Given the description of an element on the screen output the (x, y) to click on. 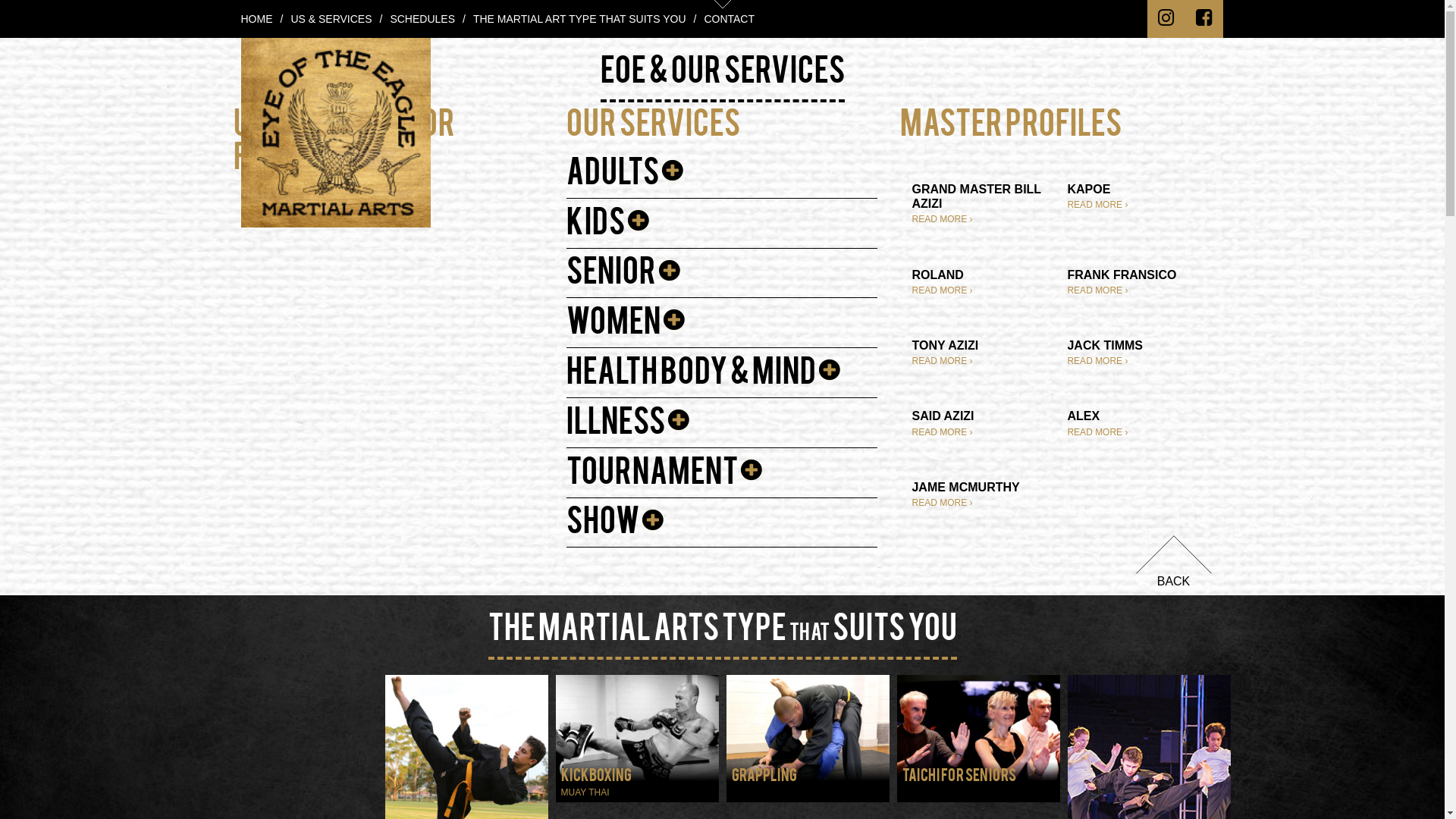
Women Element type: text (626, 328)
Senior Element type: text (624, 278)
Kids Element type: text (609, 228)
Show Element type: text (616, 527)
THE MARTIAL ART TYPE THAT SUITS YOU Element type: text (579, 18)
Tournament Element type: text (665, 478)
Health body & mind Element type: text (704, 378)
US & SERVICES Element type: text (330, 18)
Taichi for seniors
  Element type: text (977, 782)
Illness Element type: text (629, 428)
SCHEDULES Element type: text (422, 18)
Adults Element type: text (626, 178)
Grappling
  Element type: text (807, 782)
CONTACT Element type: text (729, 18)
US / IN & OUTDOOR FACILITIES Element type: text (344, 148)
Kickboxing
MUAY THAI Element type: text (636, 782)
HOME Element type: text (256, 18)
